Given the description of an element on the screen output the (x, y) to click on. 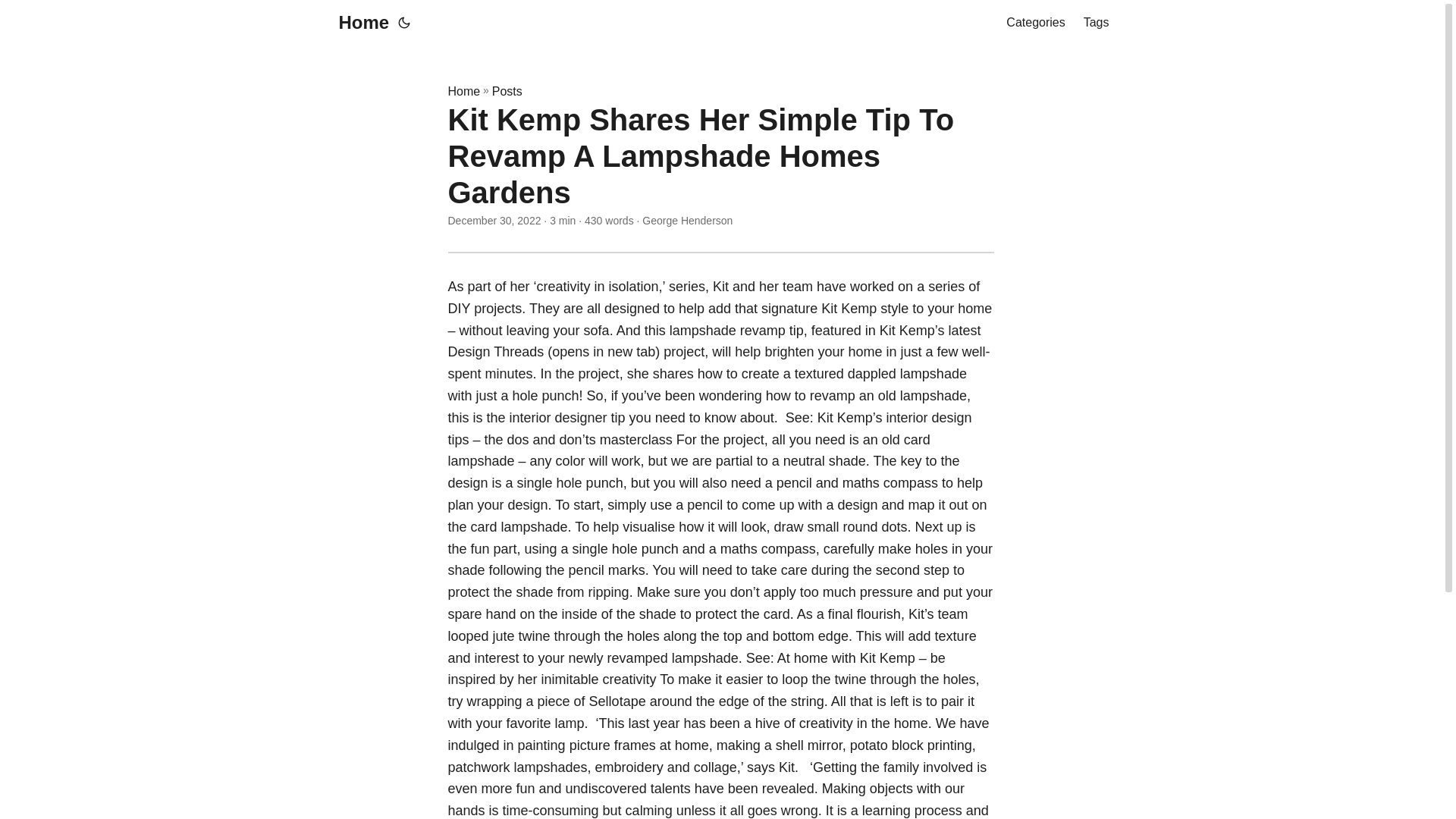
Home (359, 22)
Home (463, 91)
Posts (507, 91)
Categories (1035, 22)
Categories (1035, 22)
